Given the description of an element on the screen output the (x, y) to click on. 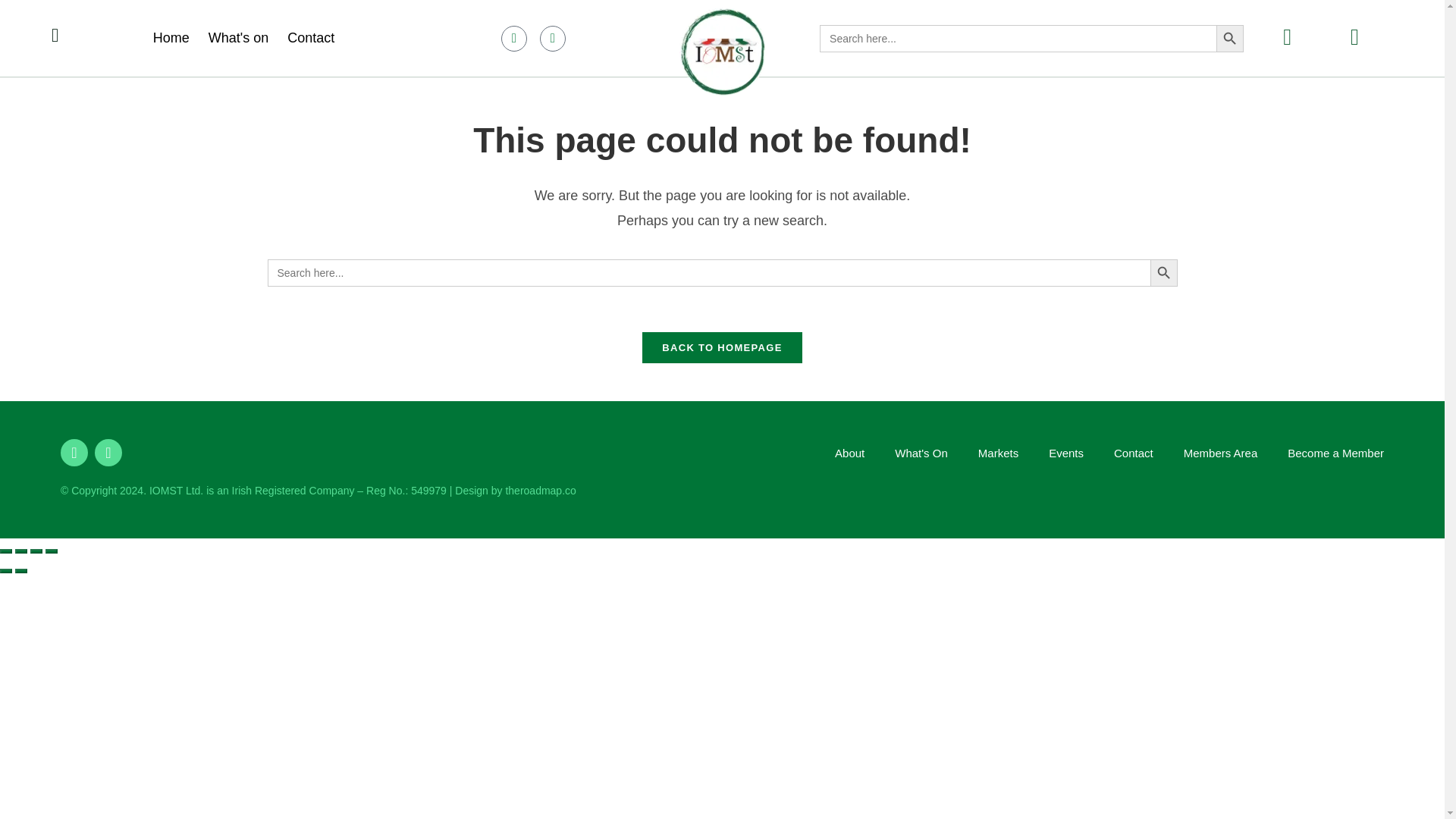
SEARCH BUTTON (1229, 37)
Events (1065, 453)
Contact (1133, 453)
BACK TO HOMEPAGE (722, 347)
Become a Member (1335, 453)
Markets (997, 453)
About (849, 453)
What's on (237, 37)
theroadmap.co (540, 490)
Contact (310, 37)
